Given the description of an element on the screen output the (x, y) to click on. 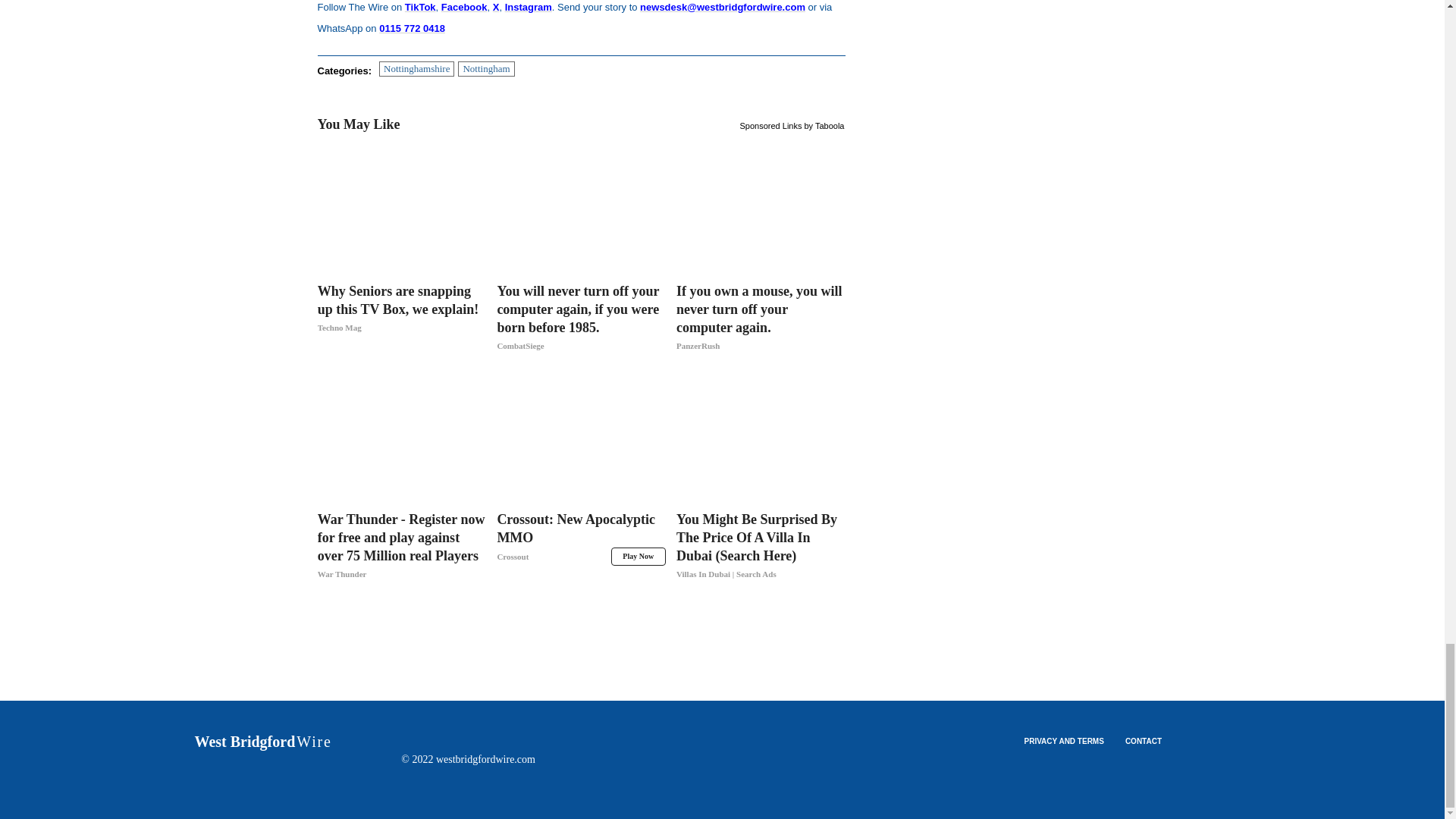
Why Seniors are snapping up this TV Box, we explain! (401, 317)
